Given the description of an element on the screen output the (x, y) to click on. 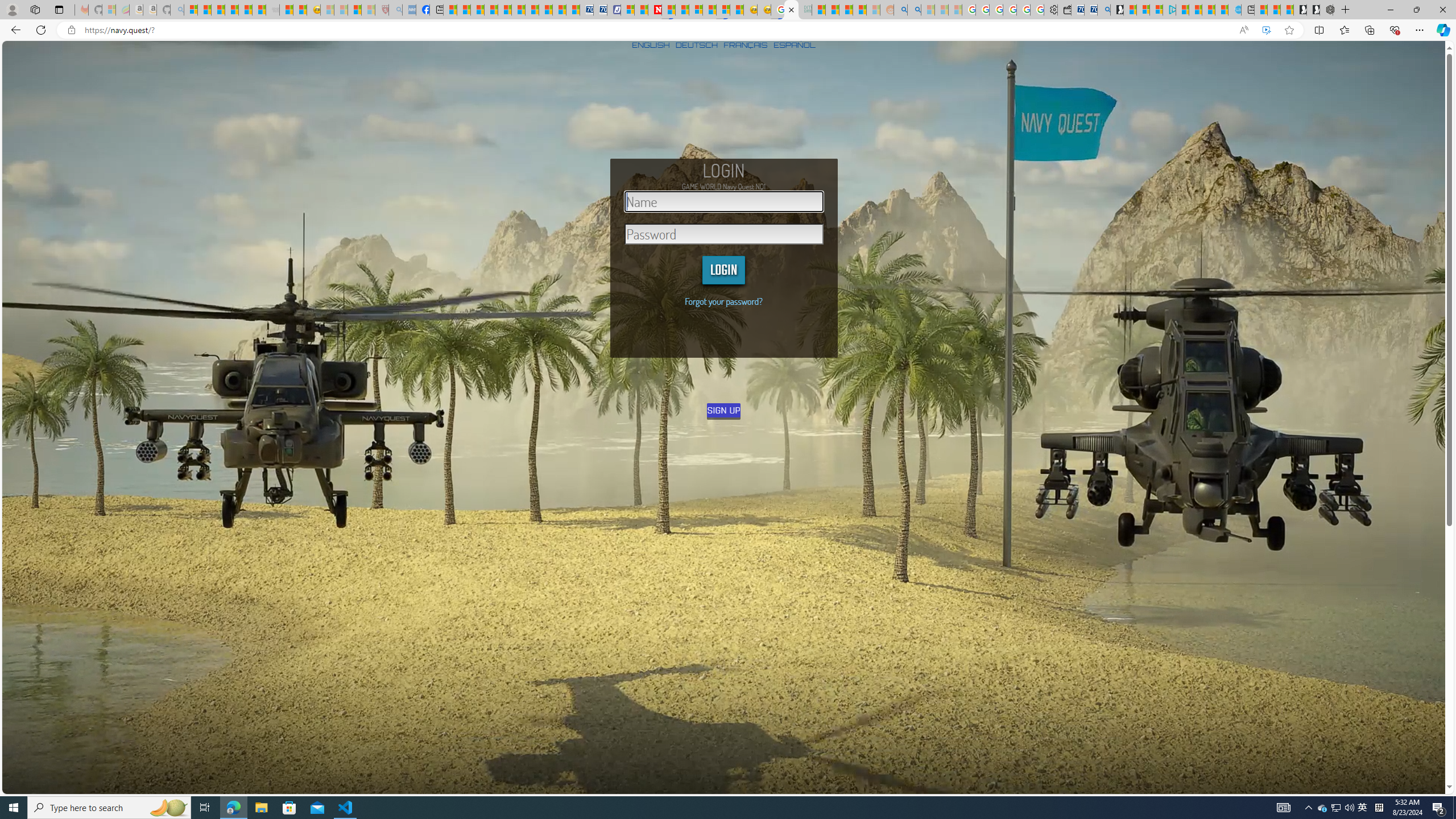
ENGLISH (650, 44)
Student Loan Update: Forgiveness Program Ends This Month (858, 9)
New Report Confirms 2023 Was Record Hot | Watch (245, 9)
Password (724, 233)
